Given the description of an element on the screen output the (x, y) to click on. 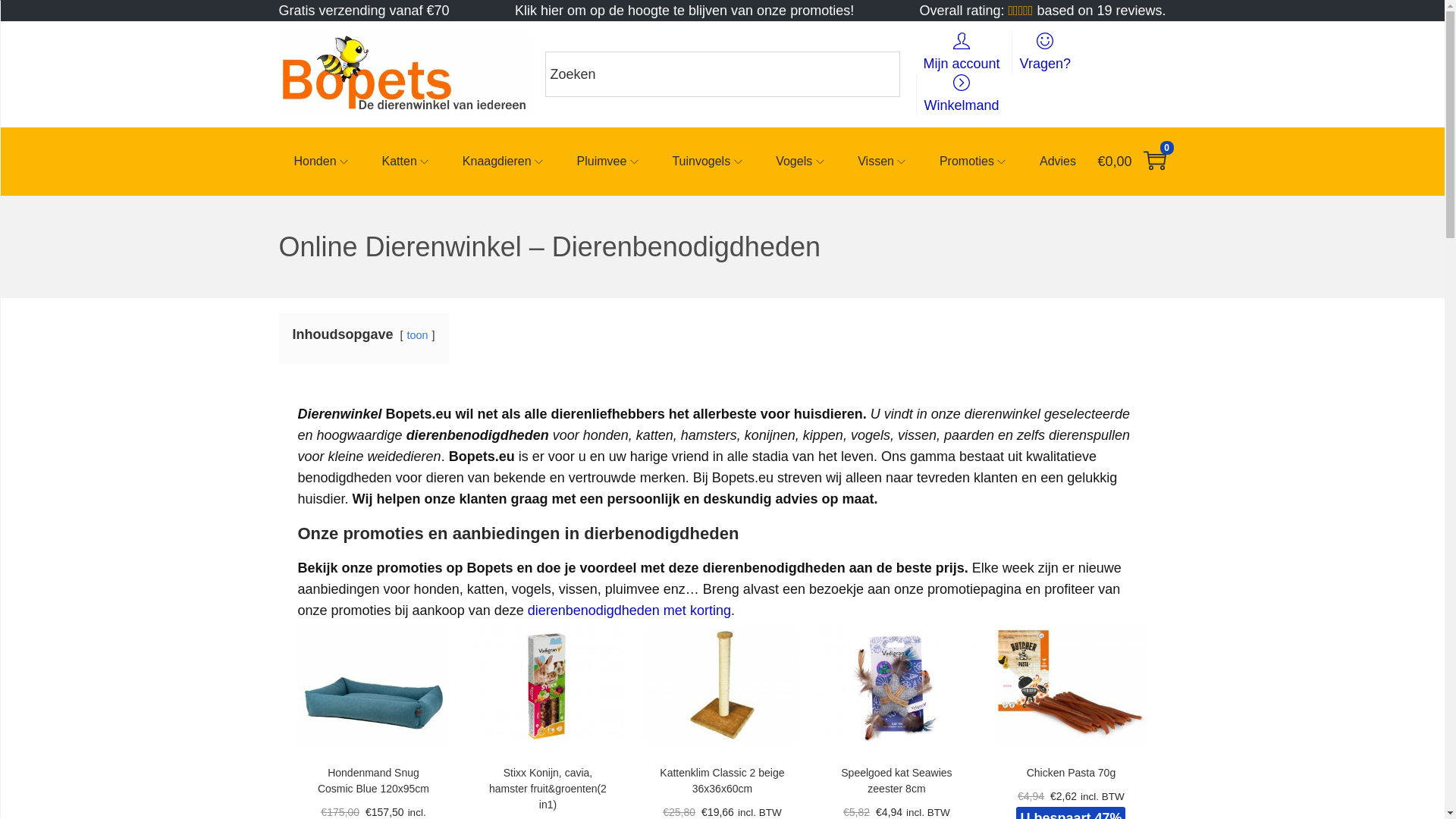
Vogels Element type: text (801, 161)
Tuinvogels Element type: text (708, 161)
toon Element type: text (417, 335)
Advies Element type: text (1057, 161)
dierenbenodigdheden met korting Element type: text (629, 610)
Pluimvee Element type: text (609, 161)
p2163  13042 kattenklim classic 2 beige 36x36x60cm 1 Element type: hover (721, 685)
Stixx Konijn, cavia, hamster fruit&groenten(2 in1) Element type: text (547, 788)
Kattenklim Classic 2 beige 36x36x60cm Element type: text (721, 780)
Mijn account Element type: text (961, 53)
0 Element type: text (1154, 161)
Speelgoed kat Seawies zeester 8cm Element type: text (895, 780)
Katten Element type: text (407, 161)
Vragen? Element type: text (1044, 53)
Promoties Element type: text (974, 161)
Vissen Element type: text (883, 161)
p12760  14495 chicken pasta 70g 1 Element type: hover (1070, 685)
Klik hier om op de hoogte te blijven van onze promoties! Element type: text (683, 10)
Honden Element type: text (322, 161)
Knaagdieren Element type: text (504, 161)
Hondenmand Snug Cosmic Blue 120x95cm Element type: text (373, 780)
p1860  14635 mand snug cosmic blue 120x95cm 1 Element type: hover (372, 685)
Winkelmand Element type: text (961, 95)
Chicken Pasta 70g Element type: text (1071, 772)
p28389  18027 speelgoed kat seawies zeester 8cm 1 Element type: hover (896, 685)
